Given the description of an element on the screen output the (x, y) to click on. 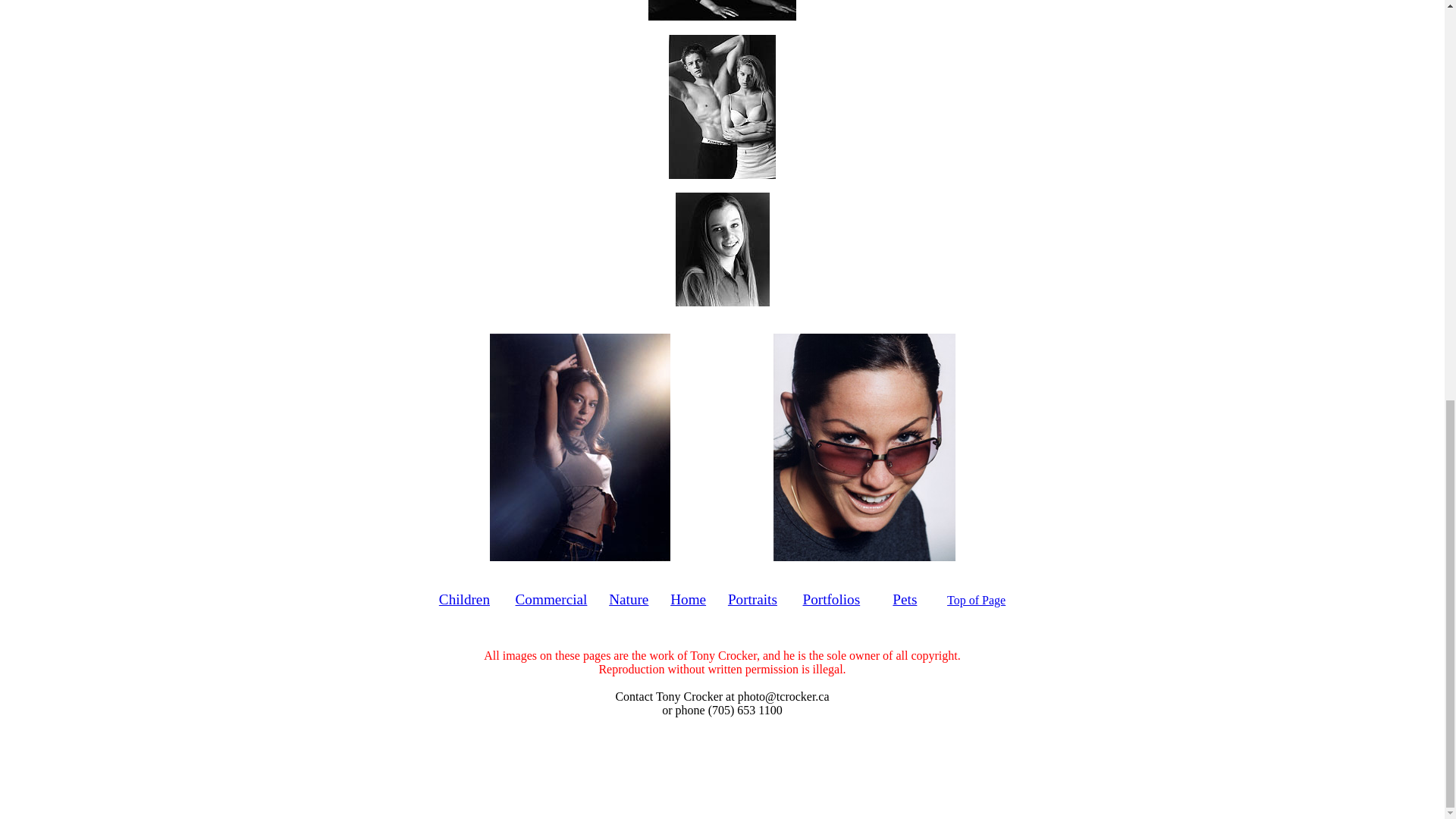
Portfolios (831, 599)
Portraits (752, 599)
Home (687, 599)
Pets (904, 599)
Children (464, 599)
Nature (627, 599)
Commercial (551, 599)
Top of Page (976, 599)
